Given the description of an element on the screen output the (x, y) to click on. 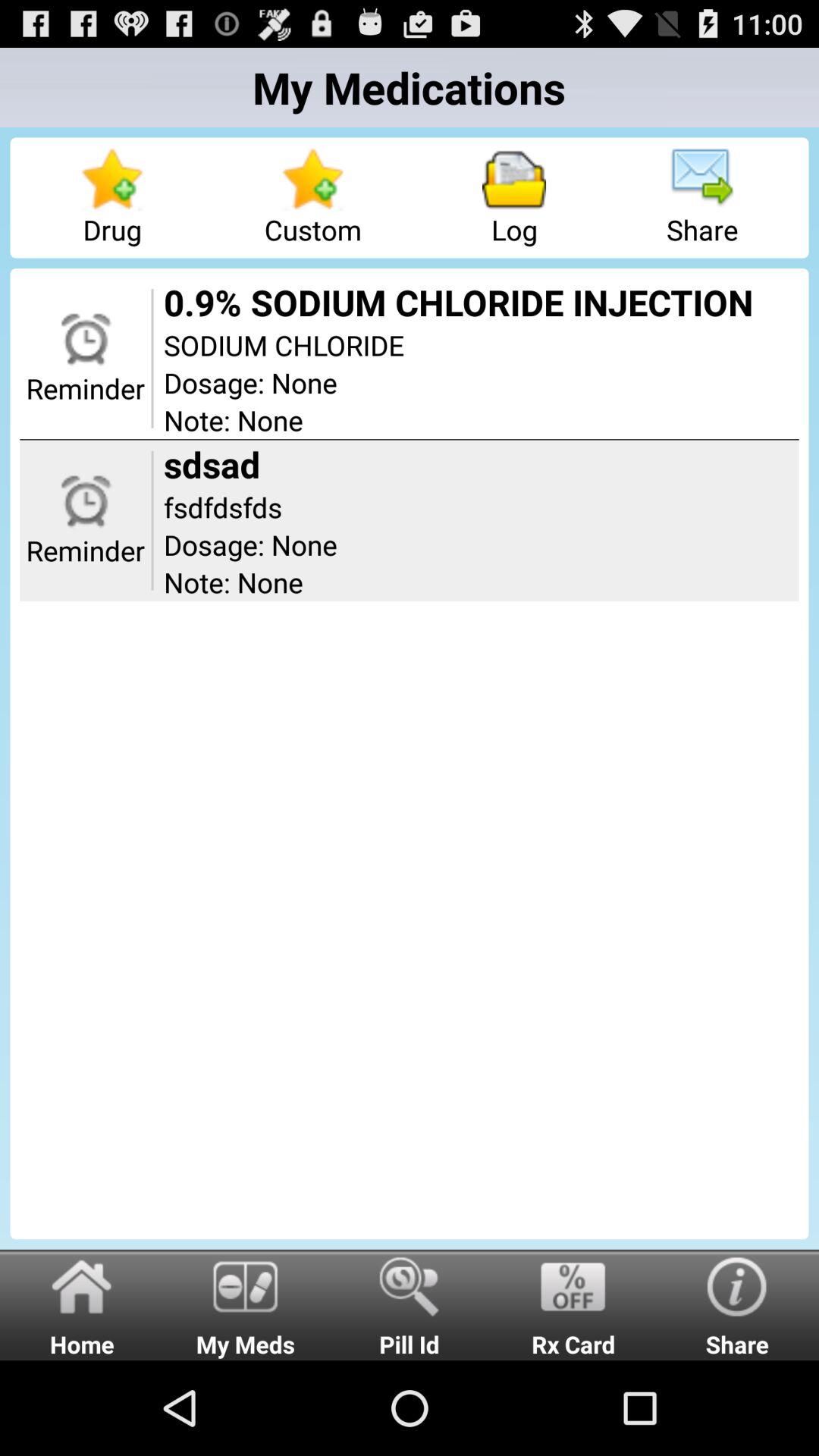
turn on item to the left of the share item (573, 1304)
